Given the description of an element on the screen output the (x, y) to click on. 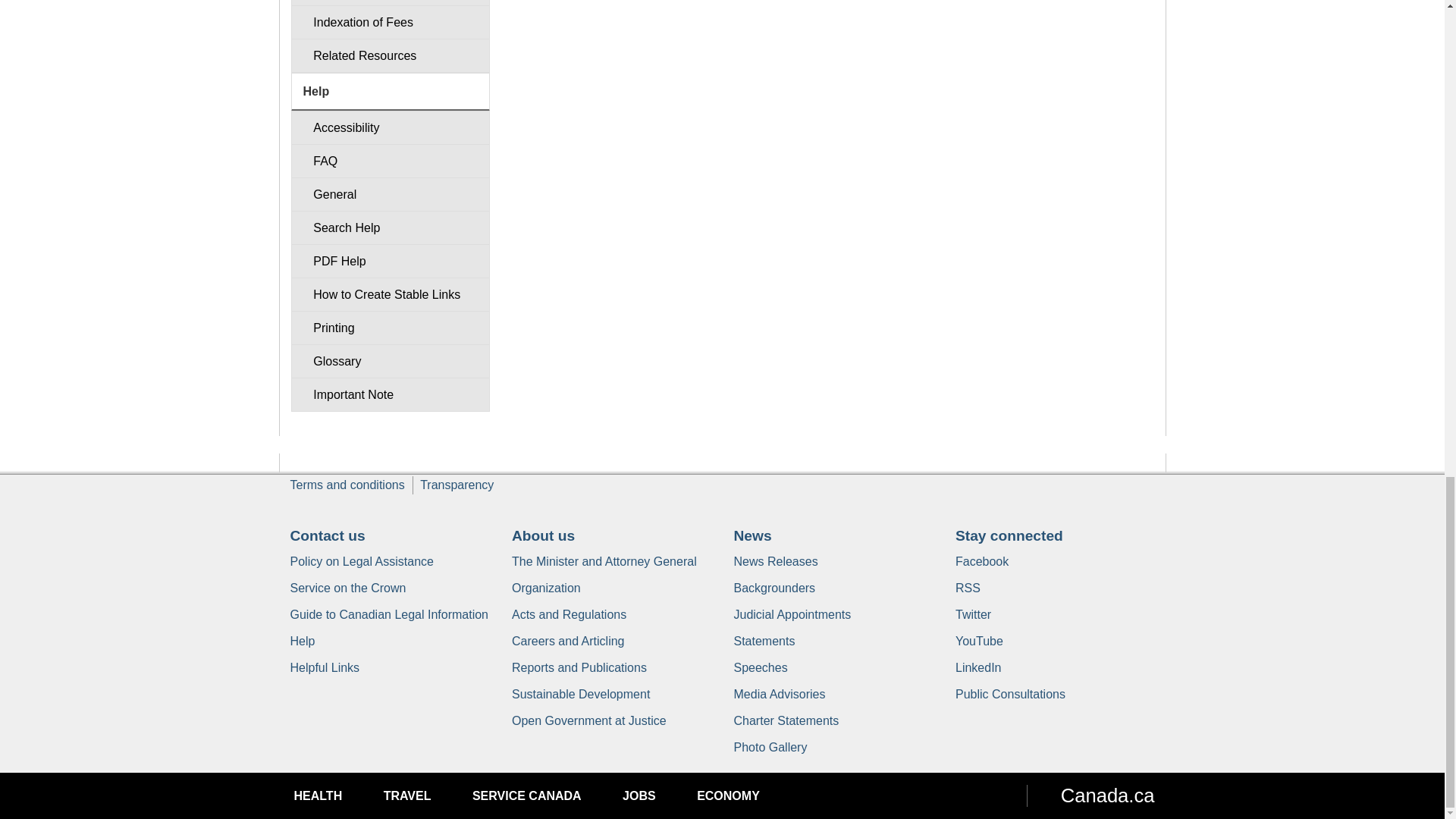
Helpful links (324, 667)
Printing Help (390, 327)
General Help (390, 194)
Related Resources (390, 55)
Frequently Asked Questions (390, 161)
Accessibility Help (390, 127)
